Given the description of an element on the screen output the (x, y) to click on. 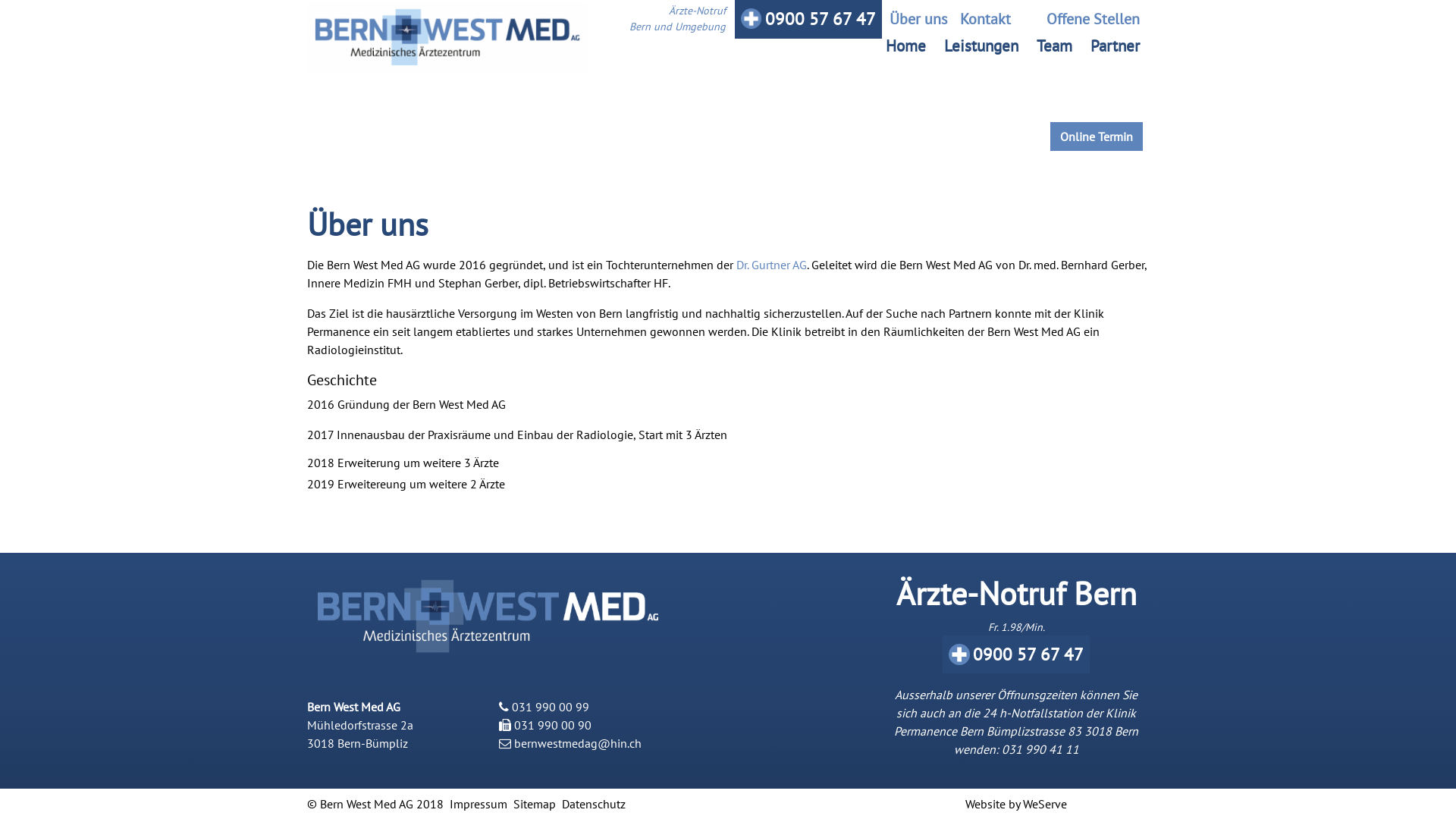
031 990 41 11 Element type: text (1039, 748)
031 990 00 99 Element type: text (550, 706)
Impressum Element type: text (478, 803)
WeServe Element type: text (1044, 803)
Partner Element type: text (1114, 45)
0900 57 67 47 Element type: text (1015, 654)
Online Termin Element type: text (1096, 136)
Sitemap Element type: text (534, 803)
0900 57 67 47 Element type: text (807, 19)
Kontakt Element type: text (985, 18)
Home Element type: text (905, 45)
Datenschutz Element type: text (593, 803)
Team Element type: text (1054, 45)
Dr. Gurtner AG Element type: text (771, 264)
Leistungen Element type: text (981, 45)
bernwestmedag@hin.ch Element type: text (577, 742)
Offene Stellen Element type: text (1081, 18)
